Given the description of an element on the screen output the (x, y) to click on. 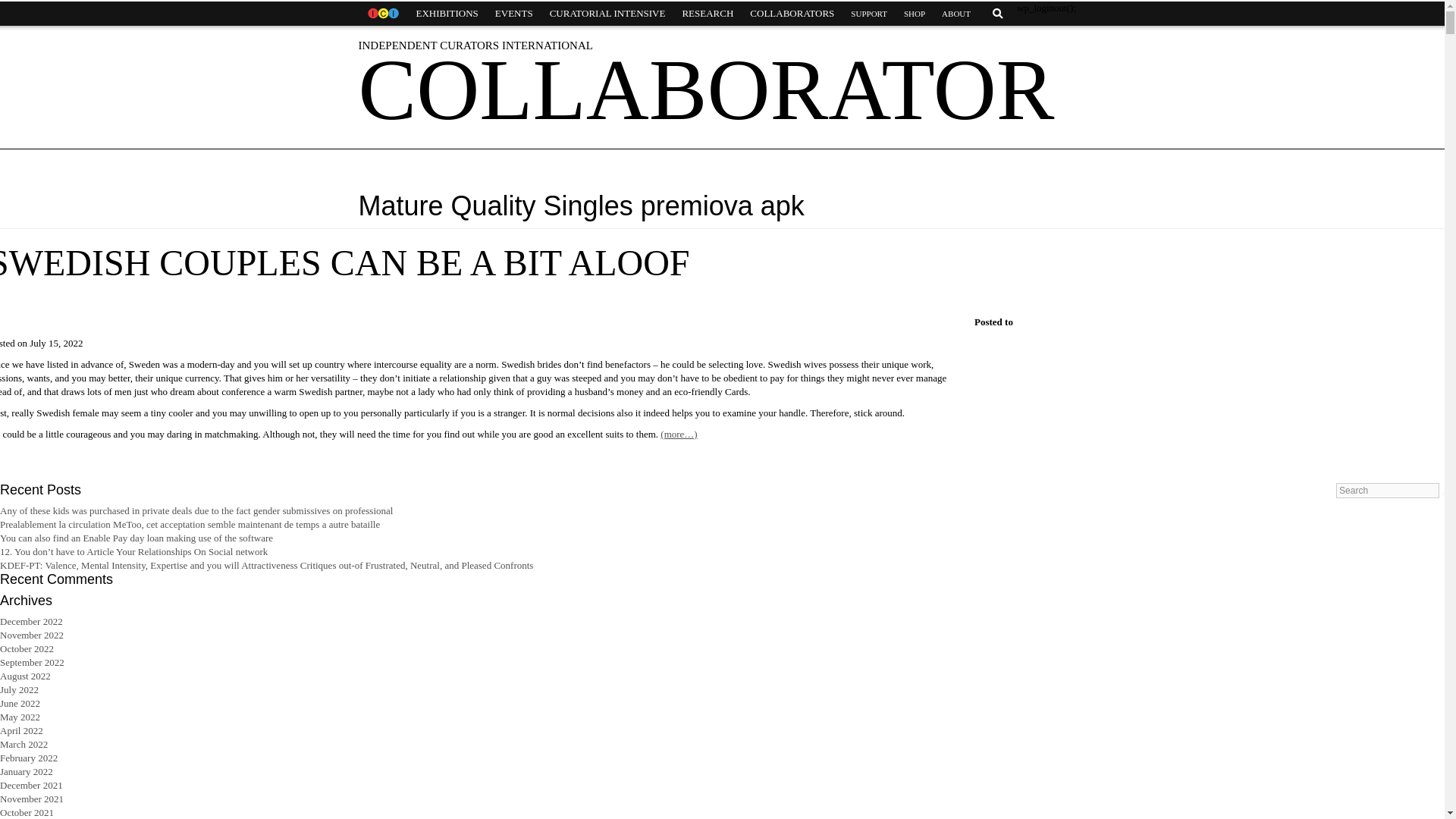
CURATORIAL INTENSIVE (607, 13)
RESEARCH (706, 13)
HOME (382, 13)
COLLABORATORS (792, 13)
EVENTS (513, 13)
EXHIBITIONS (446, 13)
